Given the description of an element on the screen output the (x, y) to click on. 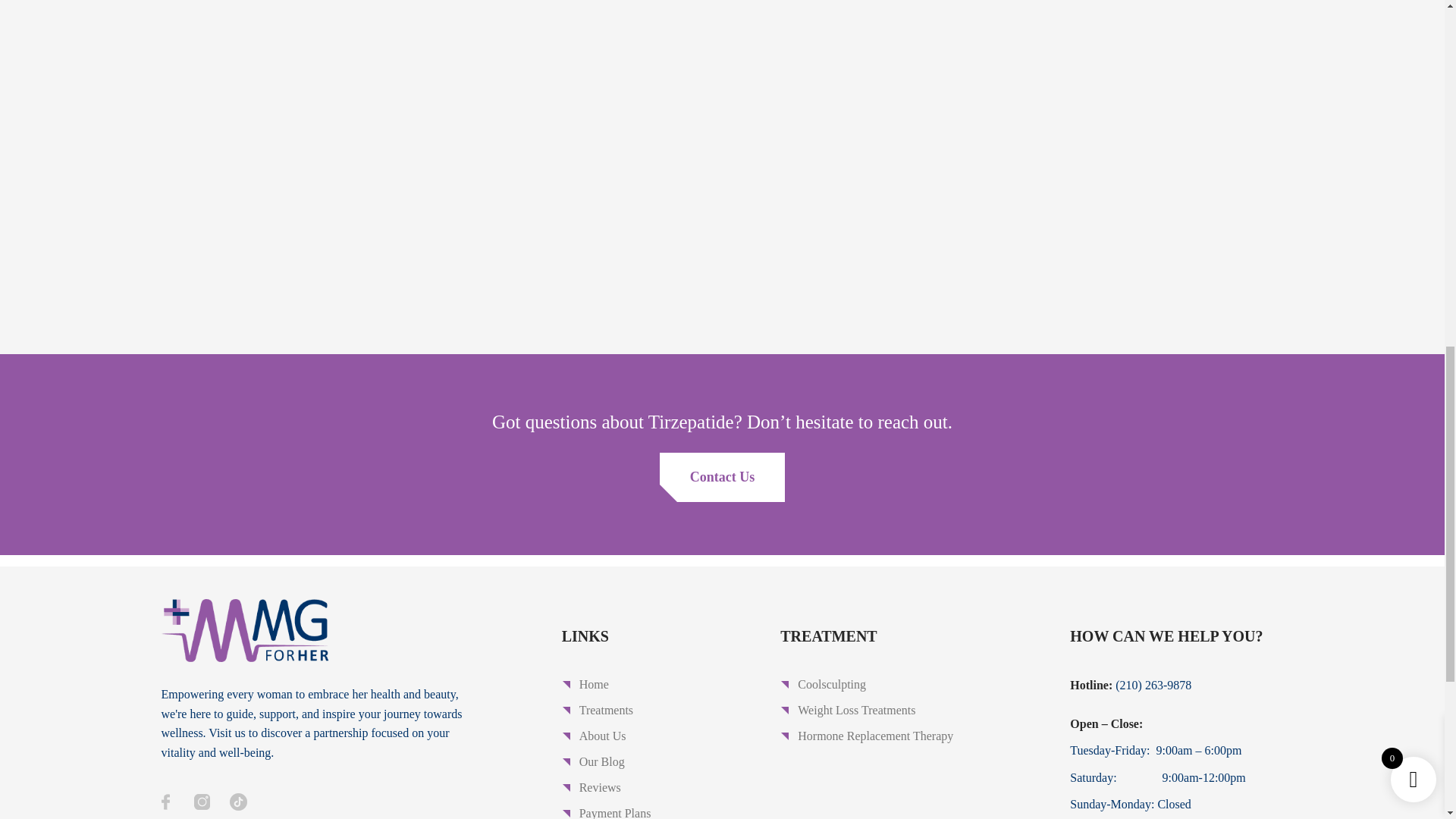
Follow on Instagram (201, 801)
Follow on Facebook (164, 801)
Follow on TikTok (237, 801)
